Given the description of an element on the screen output the (x, y) to click on. 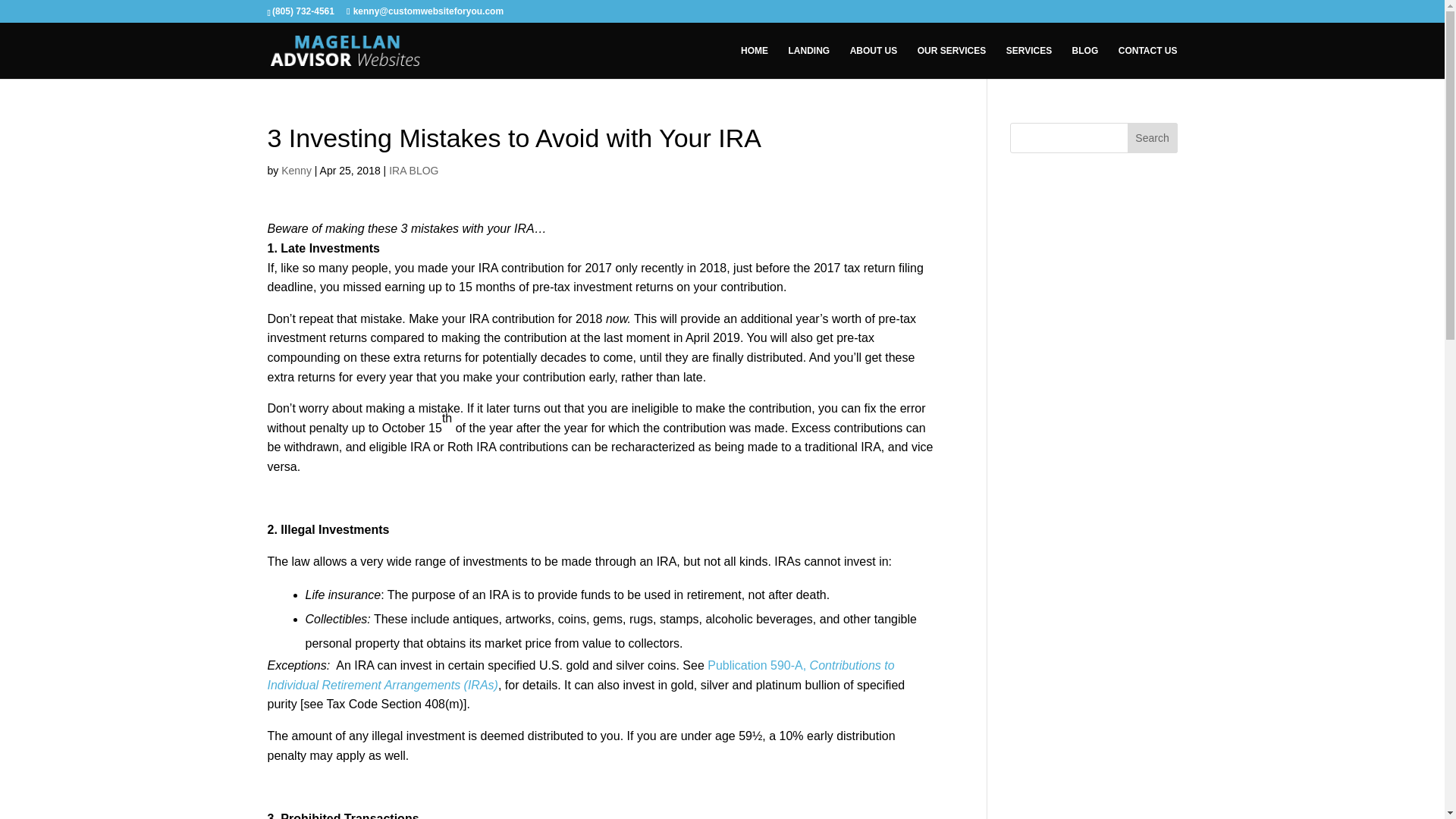
LANDING (809, 61)
Kenny (296, 170)
CONTACT US (1147, 61)
Publication 590-A,  (758, 665)
Search (1151, 137)
Search (1151, 137)
ABOUT US (874, 61)
Posts by Kenny (296, 170)
SERVICES (1028, 61)
IRA BLOG (413, 170)
